Given the description of an element on the screen output the (x, y) to click on. 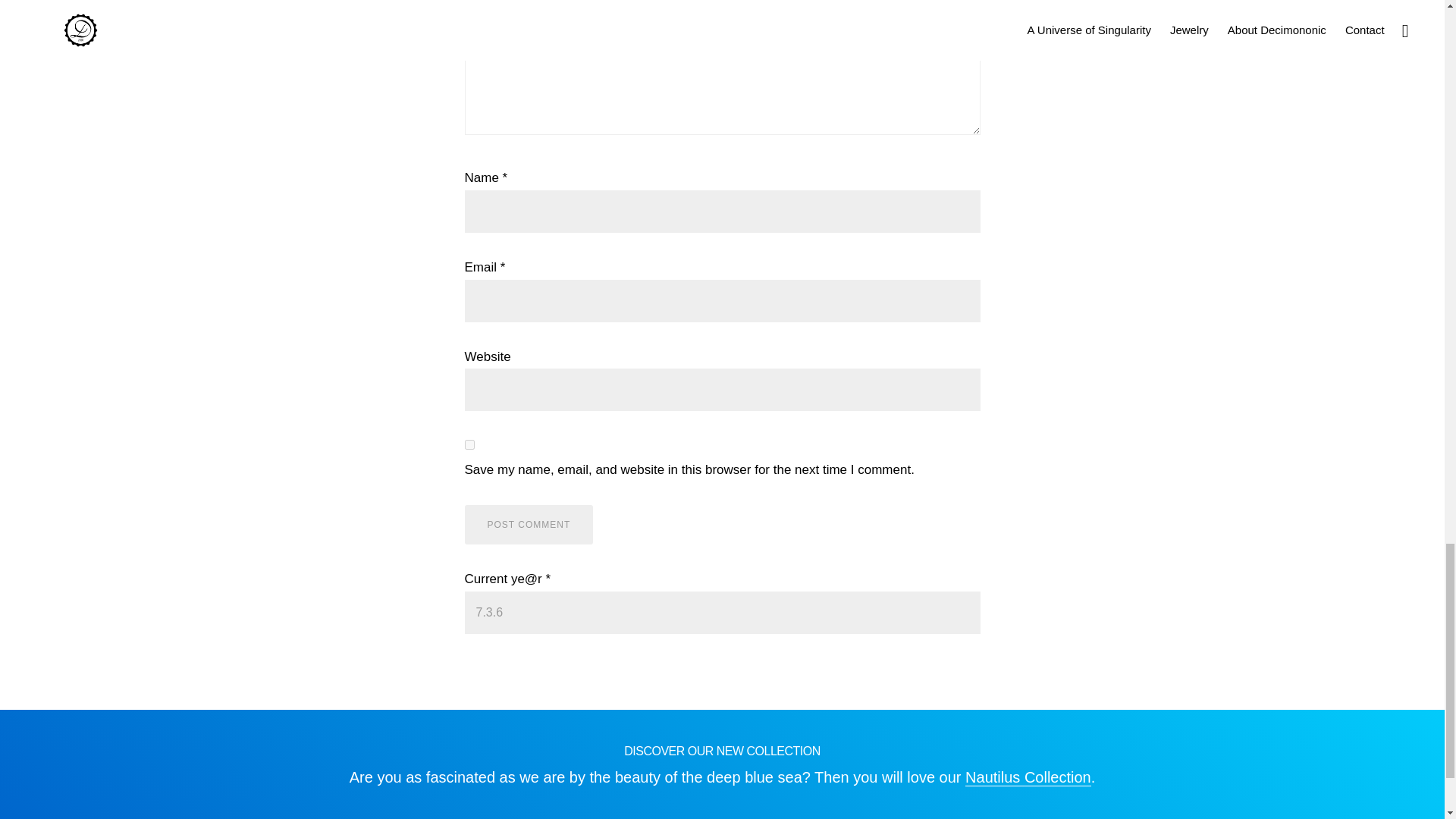
yes (469, 444)
Nautilus Collection (1027, 777)
Post Comment (528, 524)
Post Comment (528, 524)
7.3.6 (721, 612)
